Given the description of an element on the screen output the (x, y) to click on. 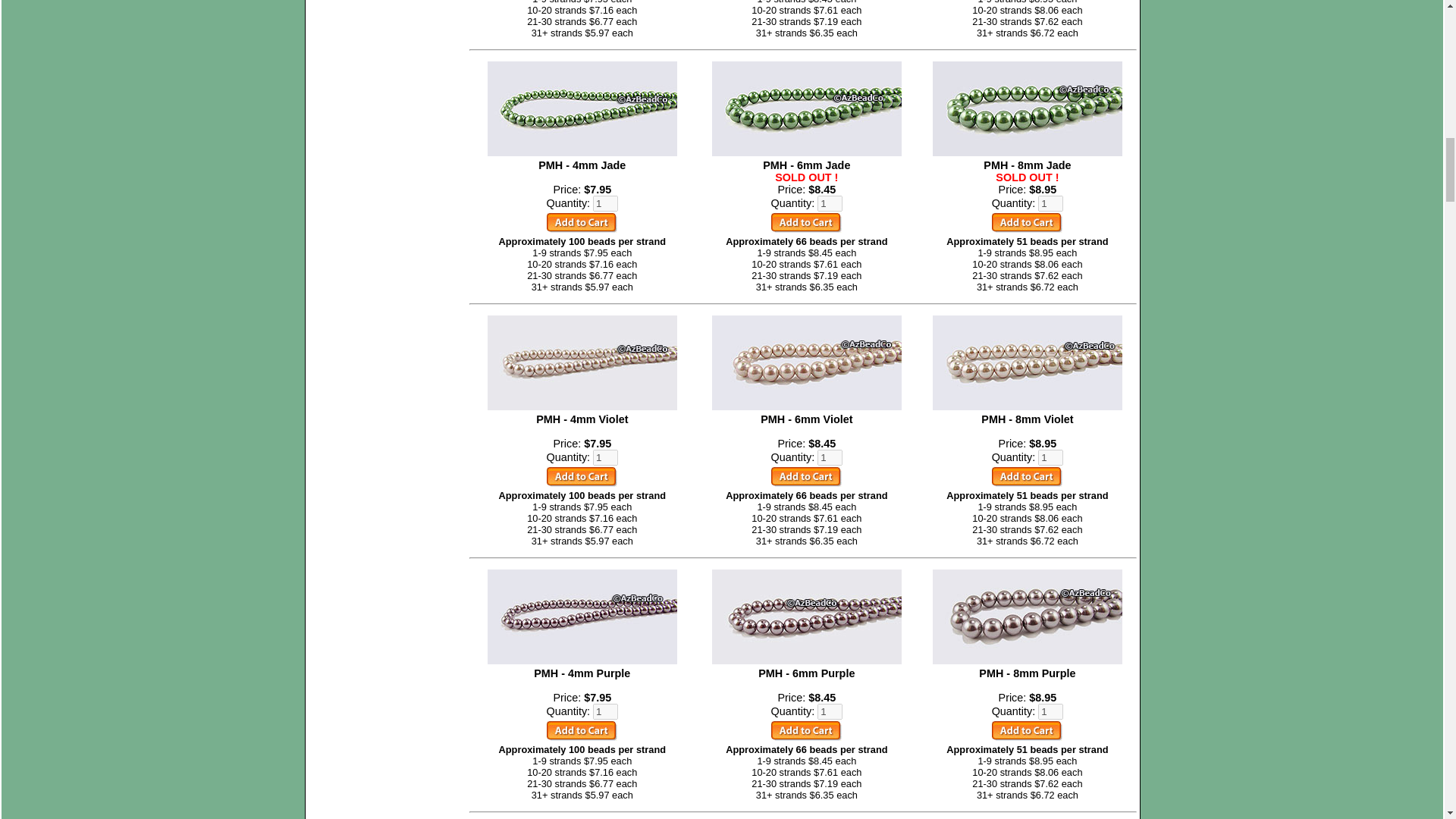
1 (1050, 203)
1 (829, 203)
1 (604, 203)
